Given the description of an element on the screen output the (x, y) to click on. 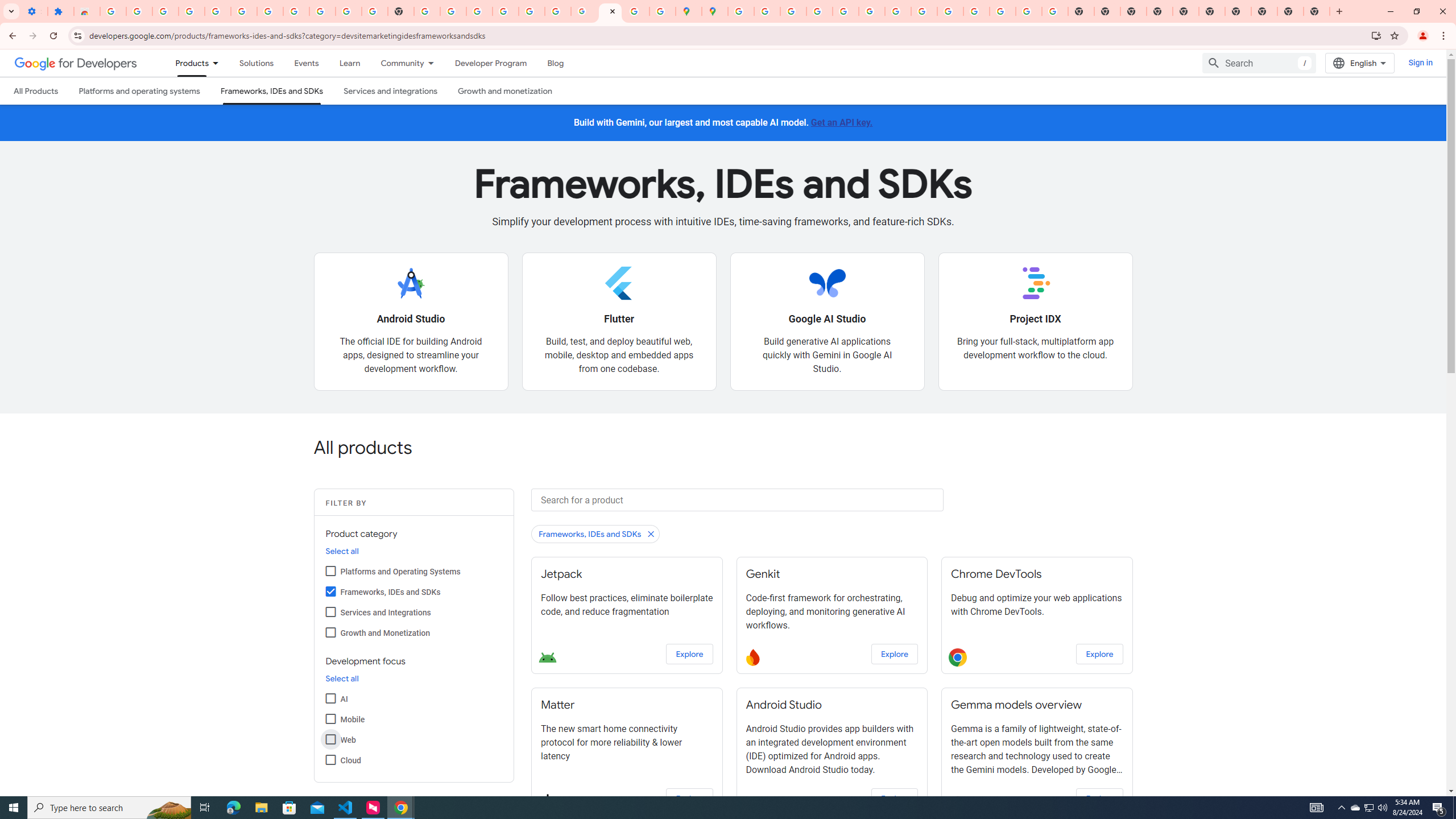
Learn how to find your photos - Google Photos Help (217, 11)
Safety in Our Products - Google Safety Center (663, 11)
Reviews: Helix Fruit Jump Arcade Game (86, 11)
Dropdown menu for Products (219, 62)
Blog (556, 62)
Google Account (322, 11)
Platforms and operating systems (139, 90)
